Given the description of an element on the screen output the (x, y) to click on. 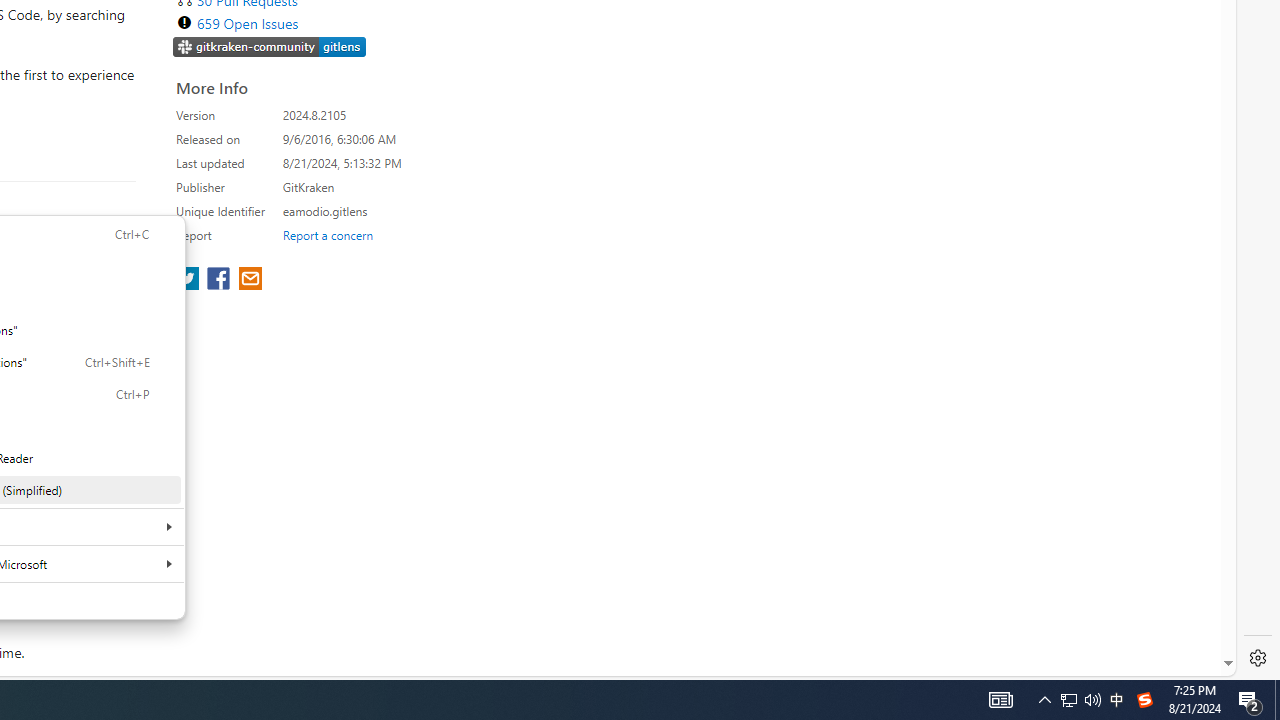
share extension on facebook (220, 280)
https://slack.gitkraken.com// (269, 46)
share extension on twitter (190, 280)
https://slack.gitkraken.com// (269, 48)
Report a concern (327, 234)
share extension on email (249, 280)
